Given the description of an element on the screen output the (x, y) to click on. 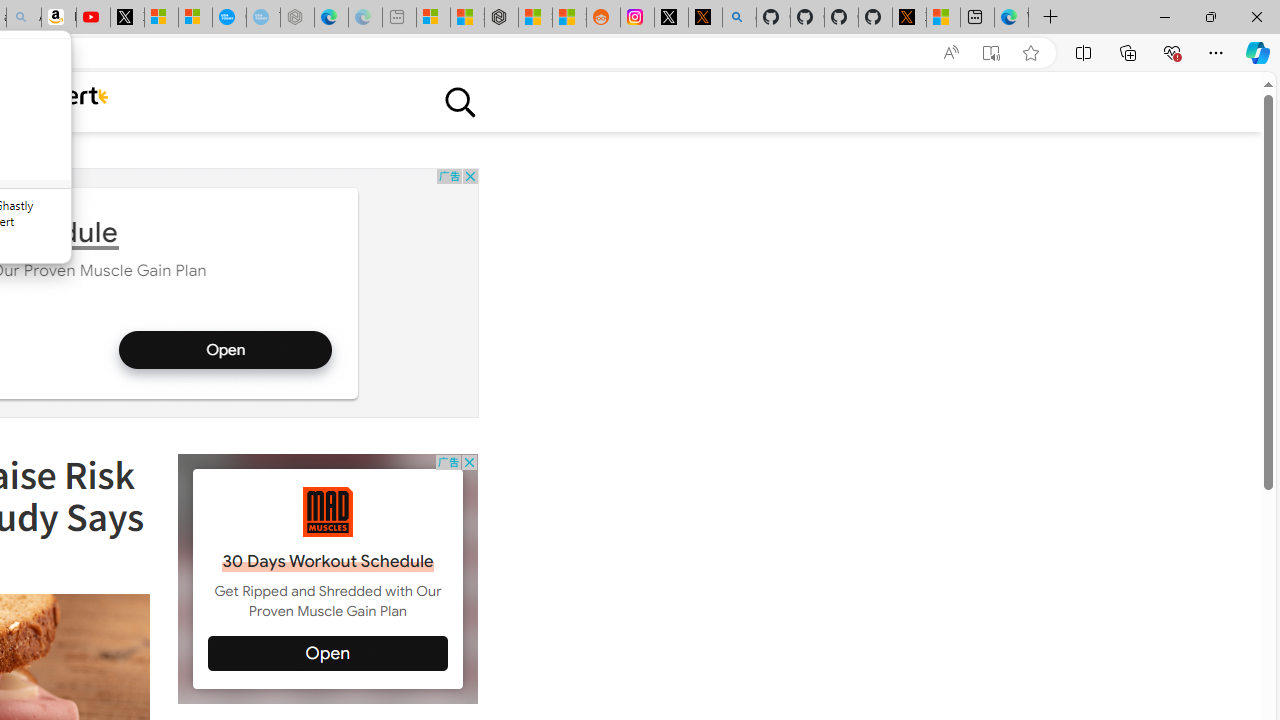
help.x.com | 524: A timeout occurred (704, 17)
Enter Immersive Reader (F9) (991, 53)
New tab - Sleeping (398, 17)
Nordace - Nordace has arrived Hong Kong - Sleeping (296, 17)
The most popular Google 'how to' searches - Sleeping (263, 17)
Day 1: Arriving in Yemen (surreal to be here) - YouTube (93, 17)
Nordace - Duffels (501, 17)
